Given the description of an element on the screen output the (x, y) to click on. 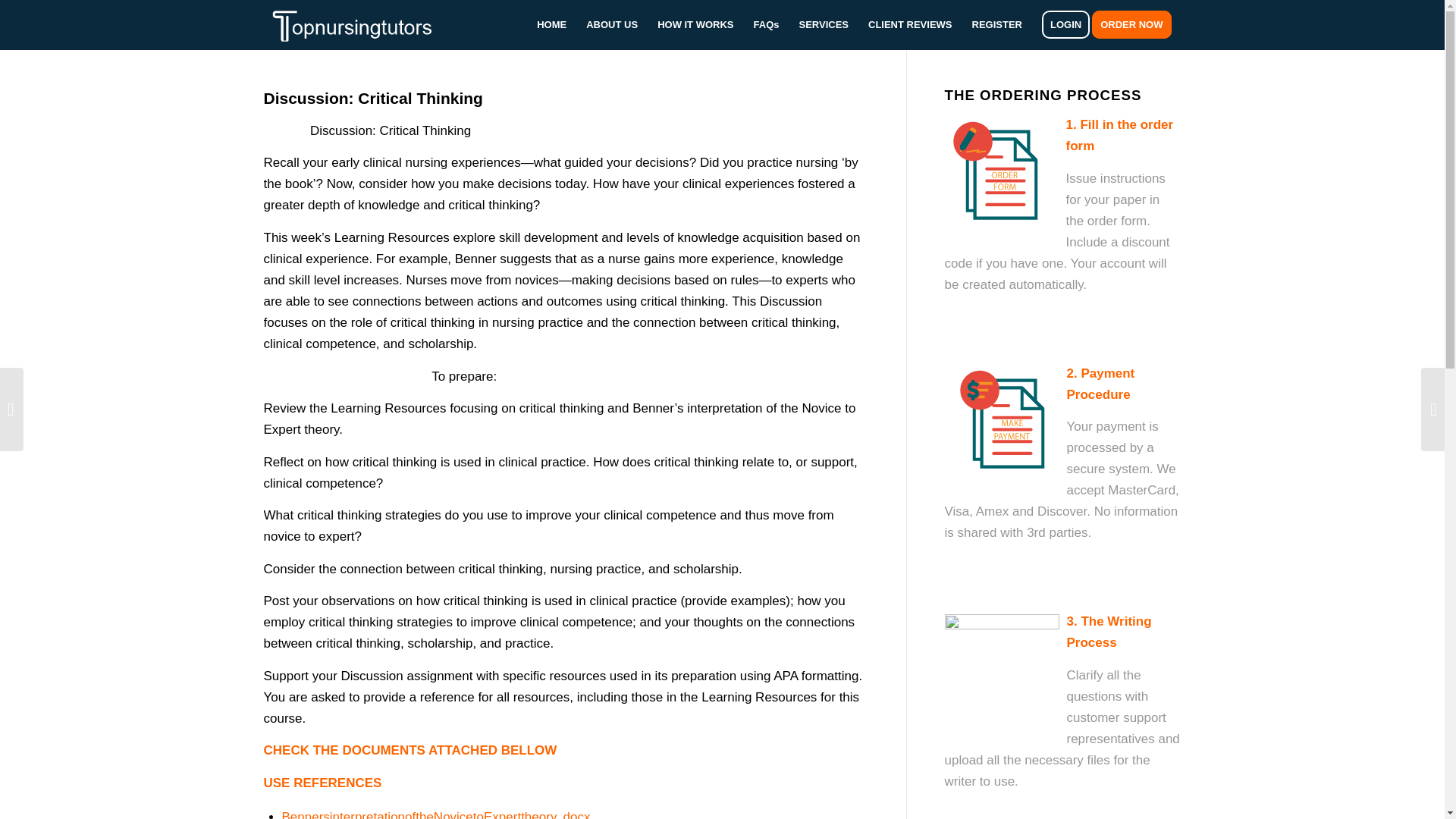
SERVICES (824, 24)
HOME (551, 24)
HOW IT WORKS (694, 24)
FAQs (766, 24)
CLIENT REVIEWS (910, 24)
LOGIN (1065, 24)
BennersinterpretationoftheNovicetoExperttheory..docx (436, 814)
ABOUT US (611, 24)
top logo2 (362, 24)
REGISTER (997, 24)
ORDER NOW (1136, 24)
